Given the description of an element on the screen output the (x, y) to click on. 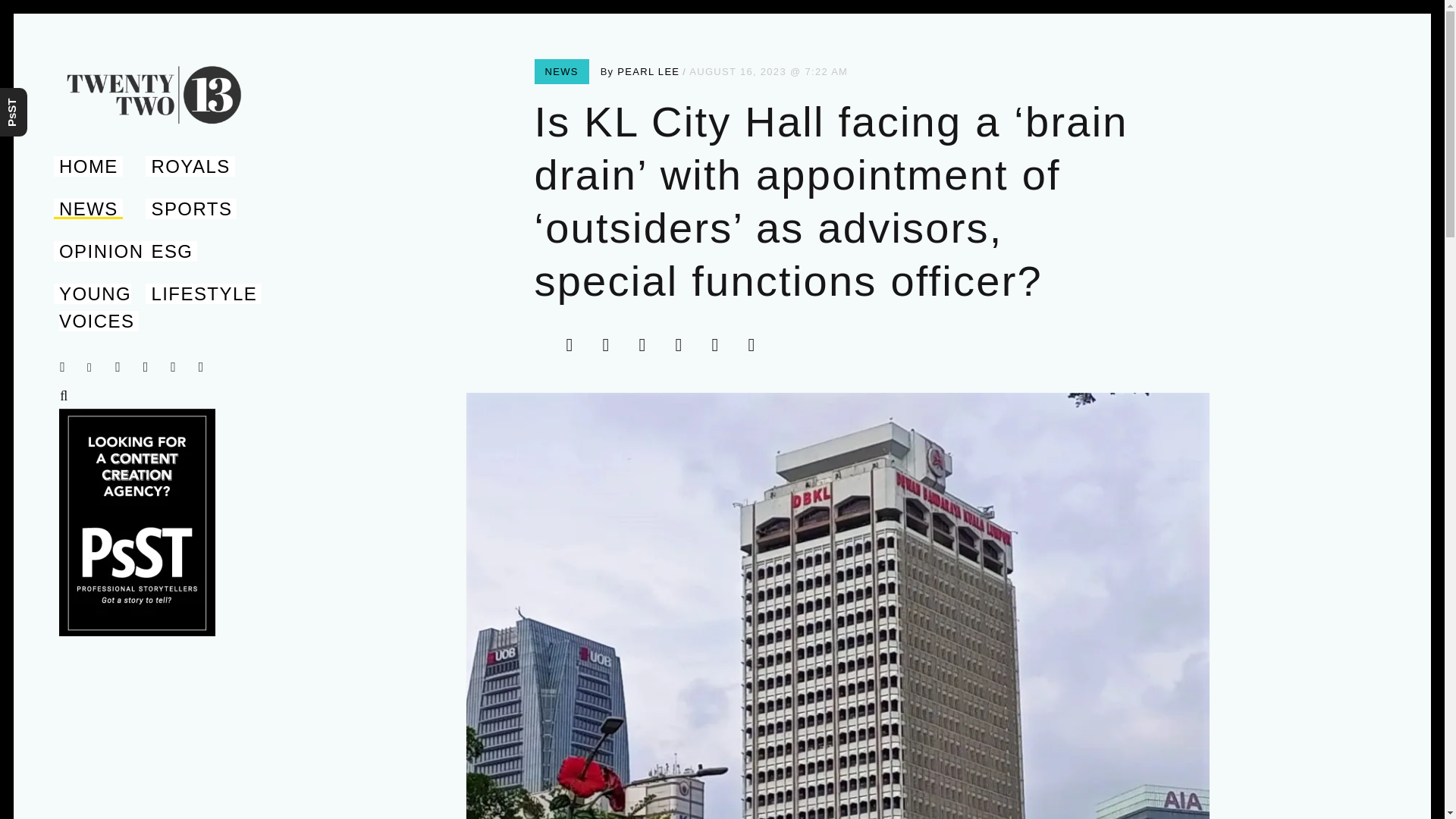
TWENTYTWO13 (114, 142)
SPORTS (190, 209)
ESG (170, 250)
NEWS (87, 209)
LinkedIn (646, 343)
ROYALS (189, 166)
Telegram (719, 343)
Facebook (574, 343)
HOME (87, 166)
NEWS (561, 71)
Copy Link (756, 343)
PEARL LEE (648, 71)
LIFESTYLE (203, 293)
OPINION (100, 250)
SEARCH (66, 395)
